Given the description of an element on the screen output the (x, y) to click on. 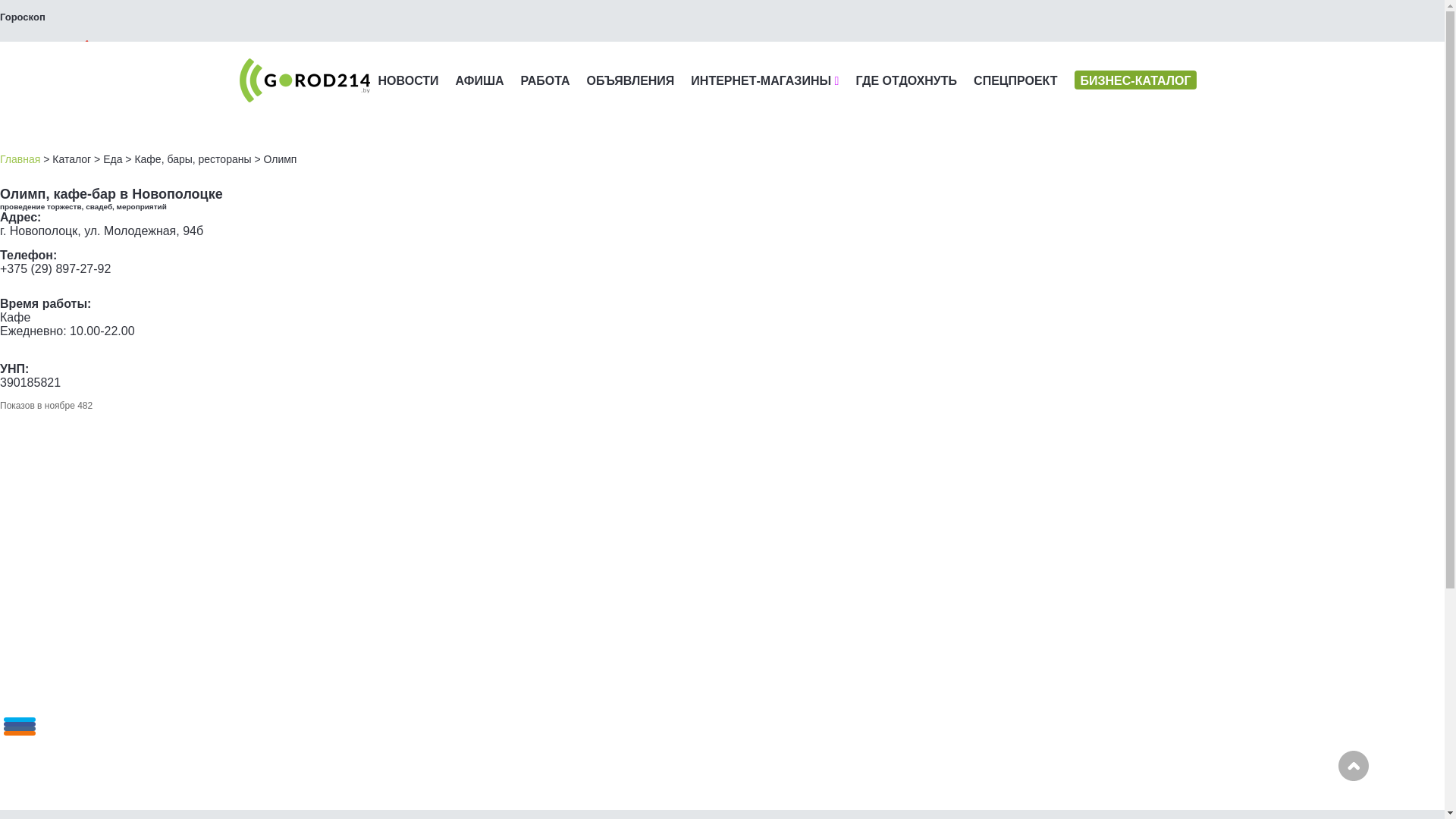
+375 (29) 897-27-92 Element type: text (55, 268)
   Element type: text (49, 50)
